Given the description of an element on the screen output the (x, y) to click on. 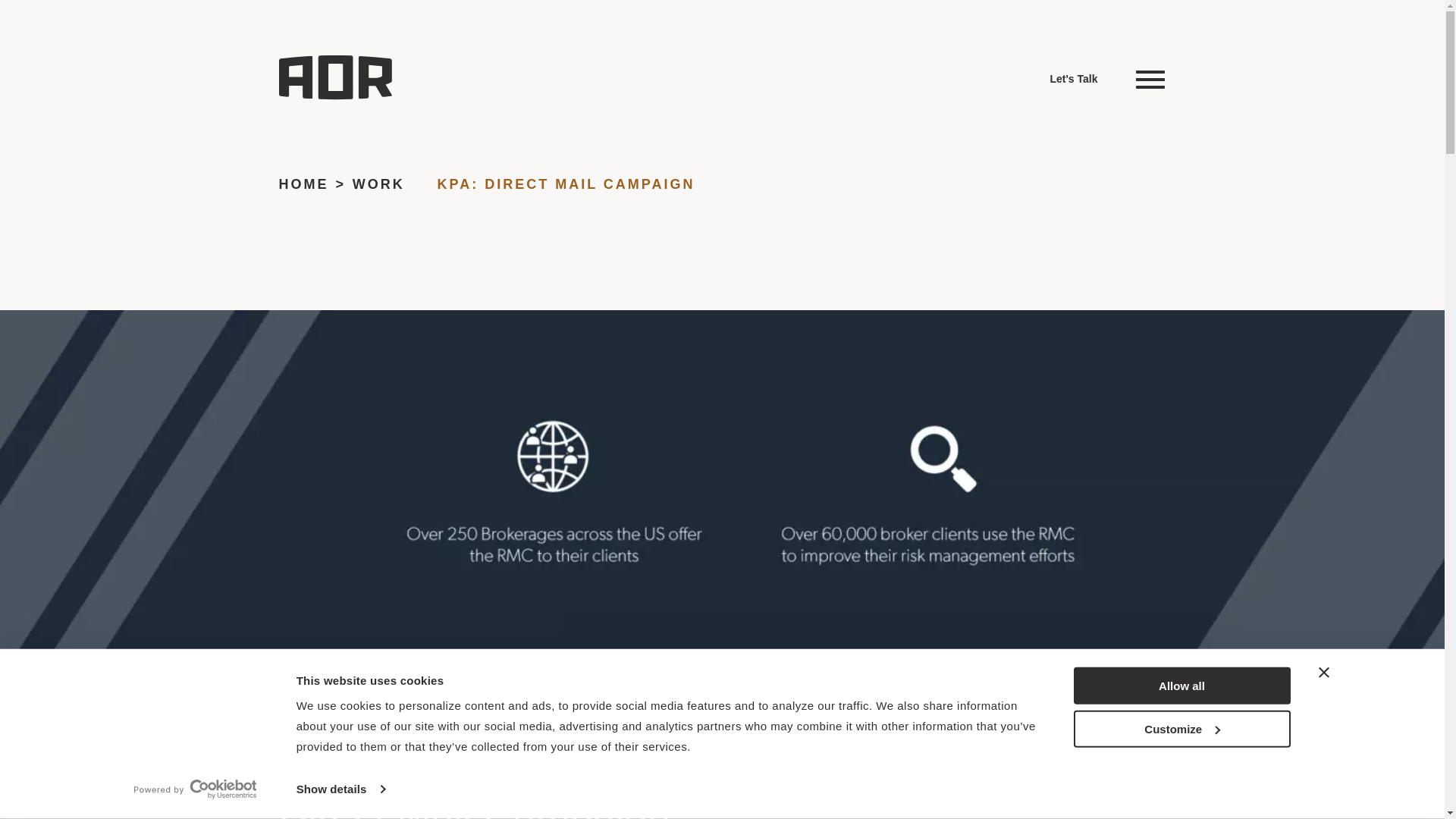
Show details (340, 789)
